Given the description of an element on the screen output the (x, y) to click on. 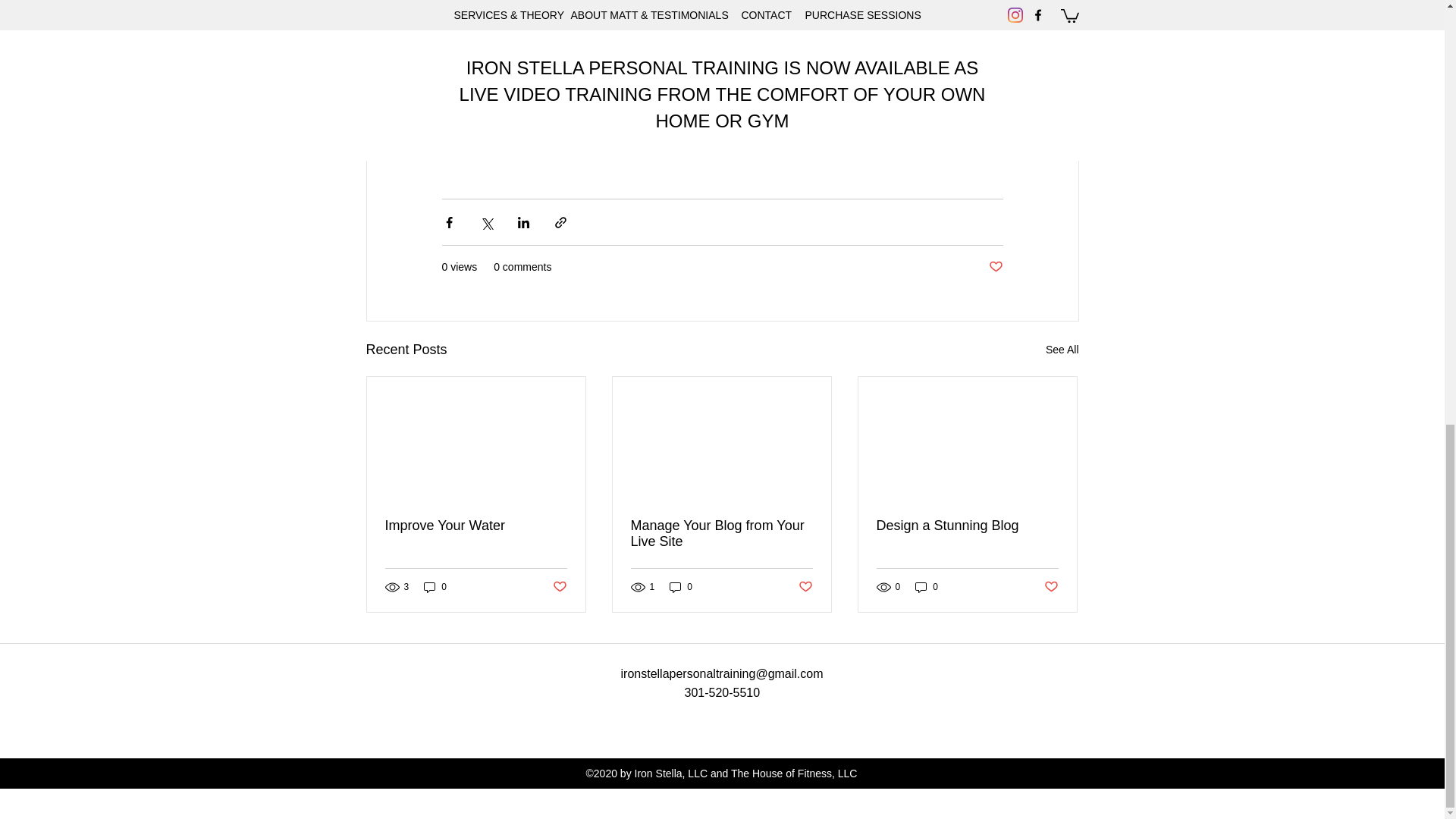
0 (681, 586)
Manage Your Blog from Your Live Site (721, 533)
0 (926, 586)
Post not marked as liked (995, 267)
Design a Stunning Blog (967, 525)
Improve Your Water (476, 525)
Post not marked as liked (558, 587)
Post not marked as liked (804, 587)
See All (1061, 350)
0 (435, 586)
Post not marked as liked (1050, 587)
